Given the description of an element on the screen output the (x, y) to click on. 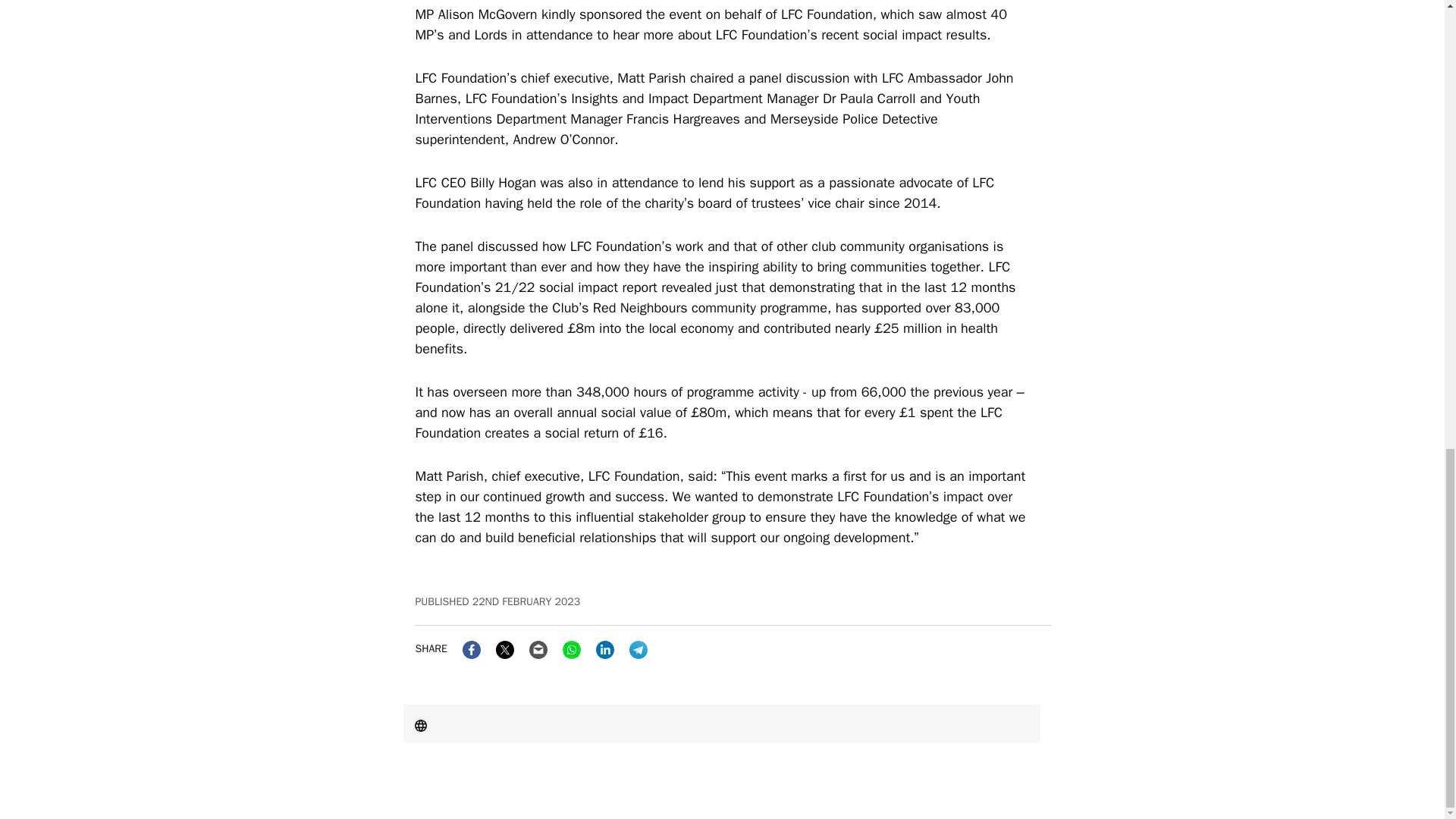
LinkedIn (604, 649)
WhatsApp (571, 649)
Email (538, 649)
Facebook (471, 649)
Twitter (504, 649)
Telegram (637, 649)
